Given the description of an element on the screen output the (x, y) to click on. 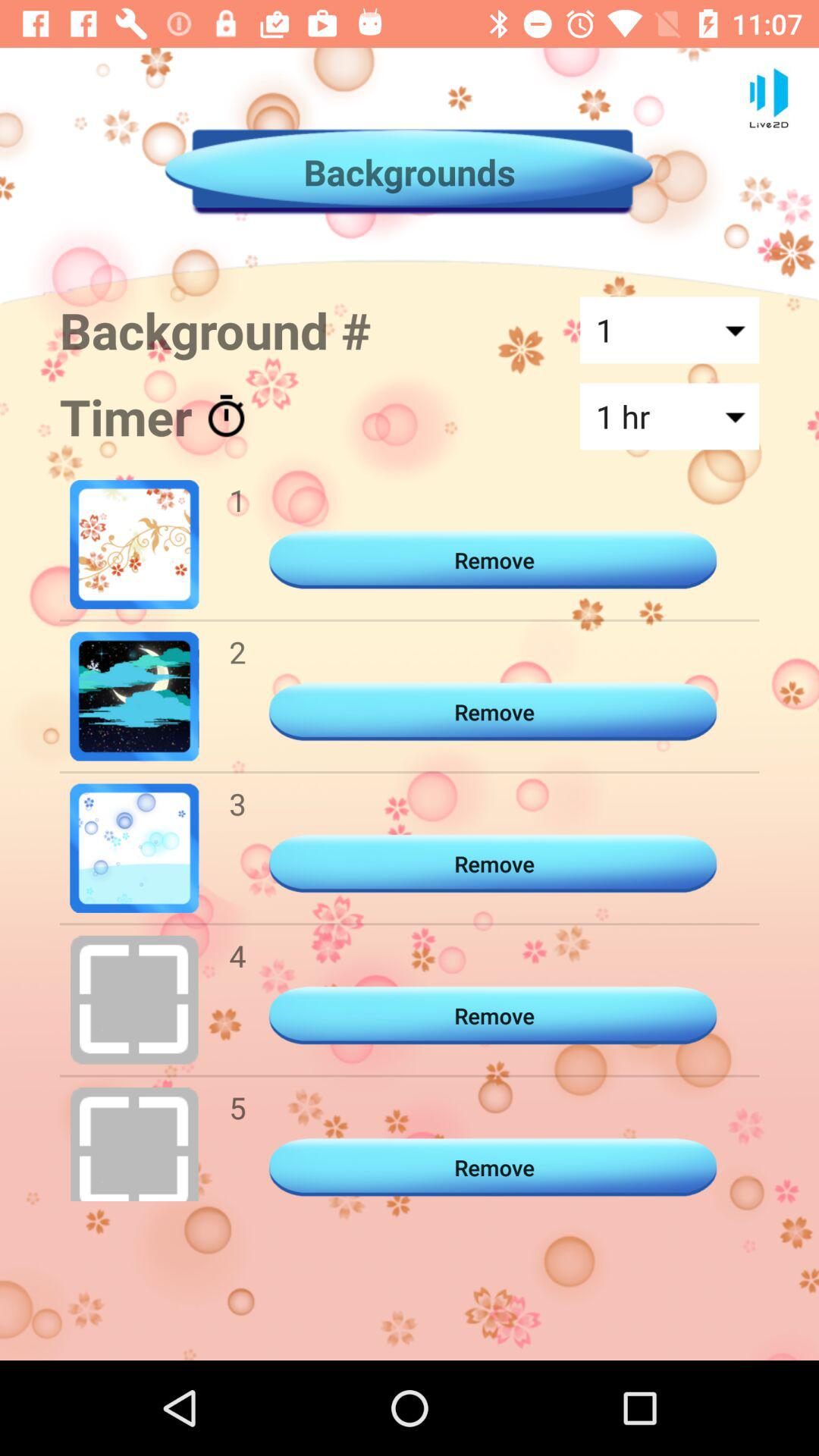
tap item below the 4 icon (237, 1107)
